Given the description of an element on the screen output the (x, y) to click on. 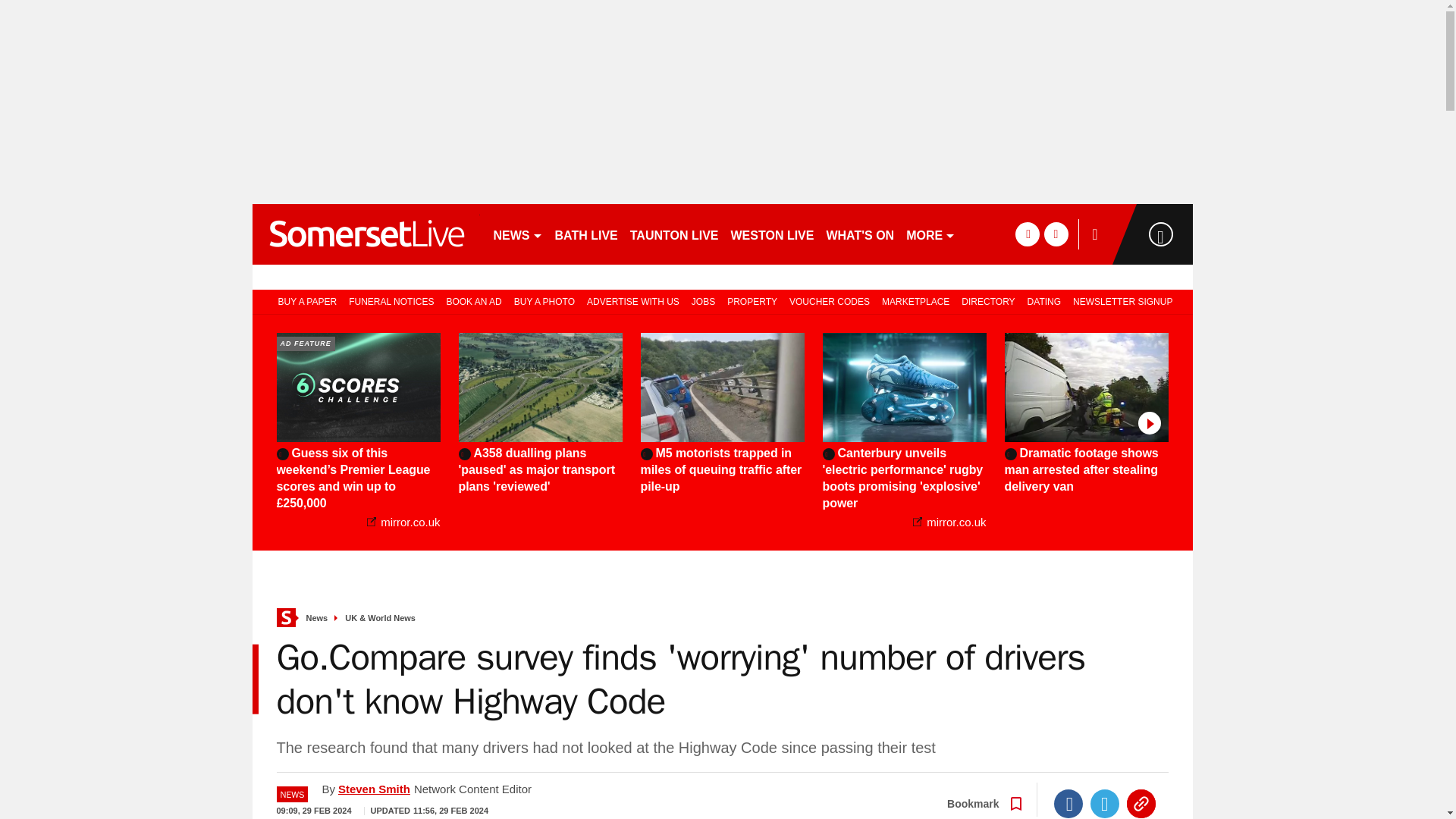
twitter (1055, 233)
facebook (1026, 233)
WESTON LIVE (773, 233)
TAUNTON LIVE (674, 233)
WHAT'S ON (859, 233)
Twitter (1104, 803)
BUY A PAPER (304, 300)
NEWS (517, 233)
somersetlive (365, 233)
BATH LIVE (586, 233)
